Given the description of an element on the screen output the (x, y) to click on. 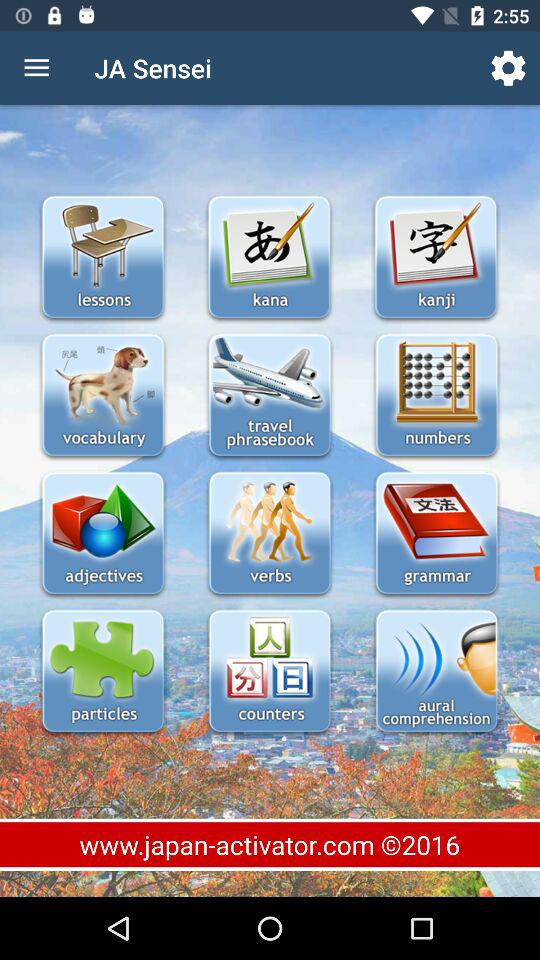
go to grammar (436, 534)
